Given the description of an element on the screen output the (x, y) to click on. 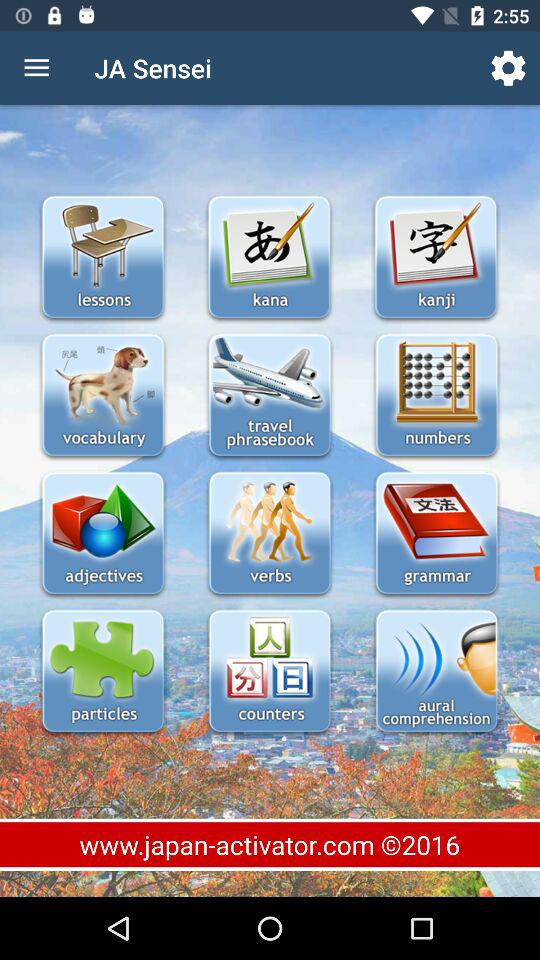
go to grammar (436, 534)
